Given the description of an element on the screen output the (x, y) to click on. 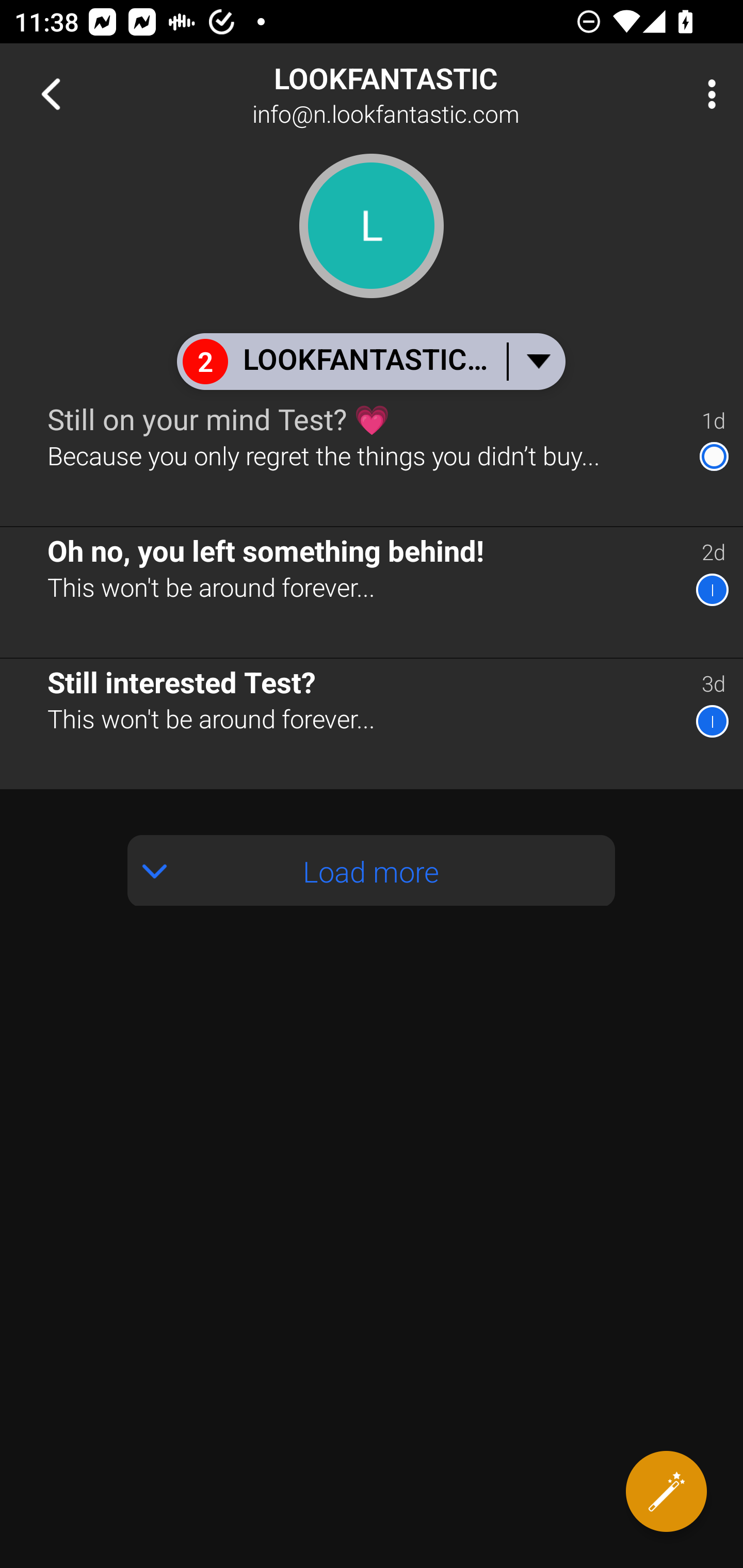
Navigate up (50, 93)
LOOKFANTASTIC info@n.lookfantastic.com (436, 93)
More Options (706, 93)
2 LOOKFANTASTIC & You (370, 361)
Load more (371, 870)
